Given the description of an element on the screen output the (x, y) to click on. 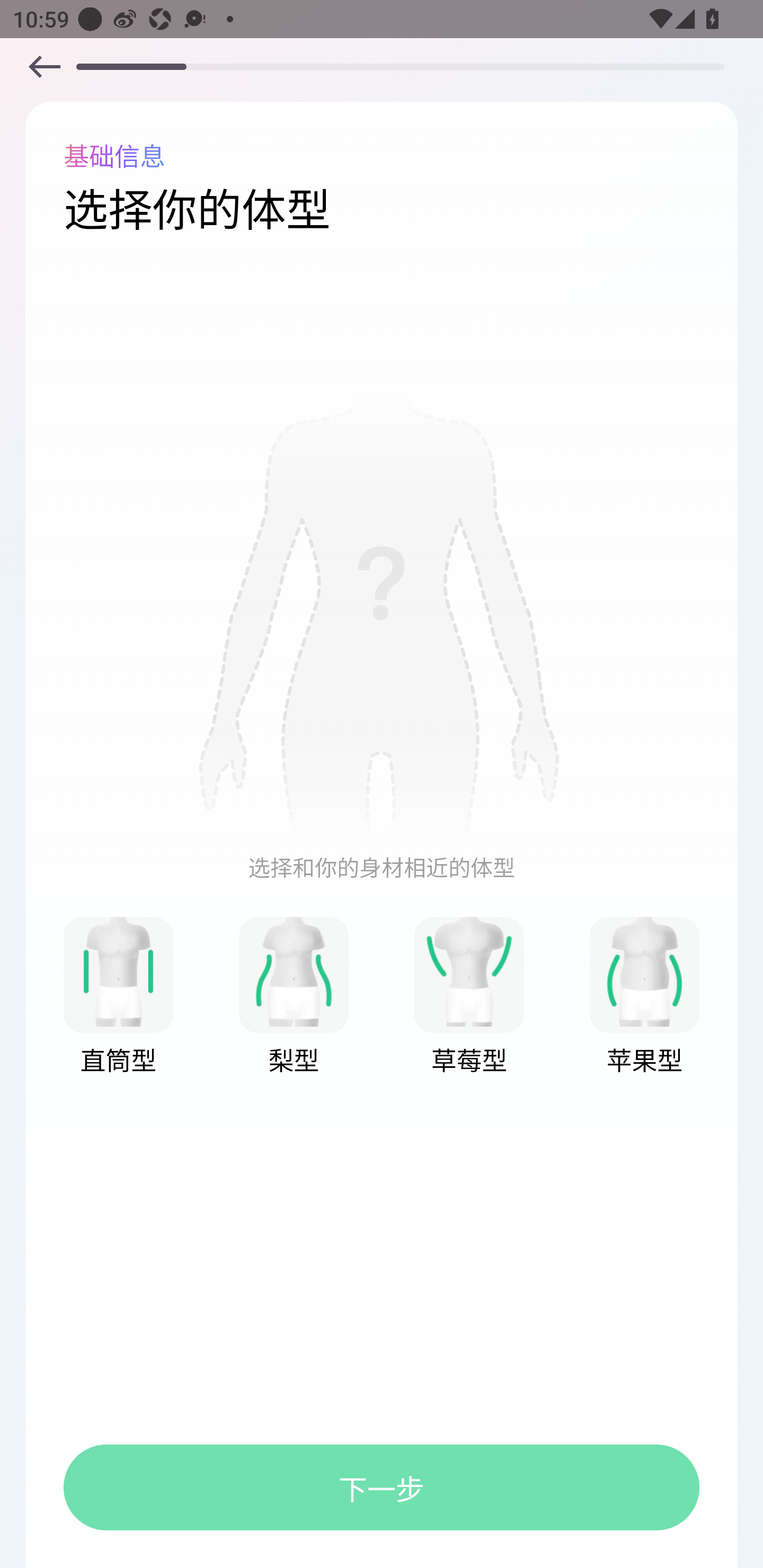
1 (44, 66)
1 (381, 618)
1   1 直筒型 (118, 996)
1 (118, 971)
1   1 梨型 (293, 996)
1 (293, 971)
1   1 草莓型 (468, 996)
1 (468, 971)
1   1 苹果型 (644, 996)
1 (644, 971)
下一步 (381, 1487)
